Given the description of an element on the screen output the (x, y) to click on. 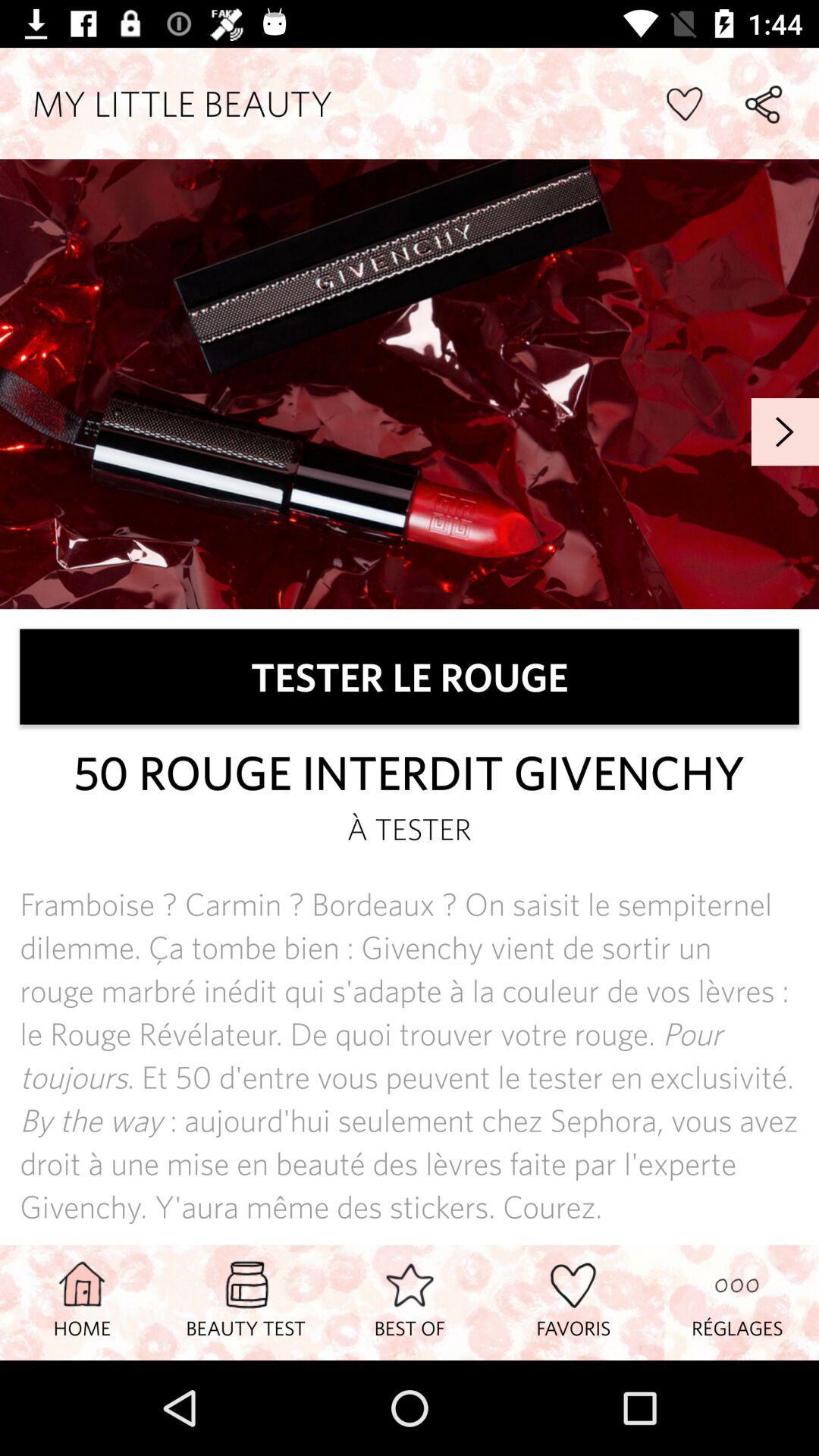
share page (763, 103)
